Given the description of an element on the screen output the (x, y) to click on. 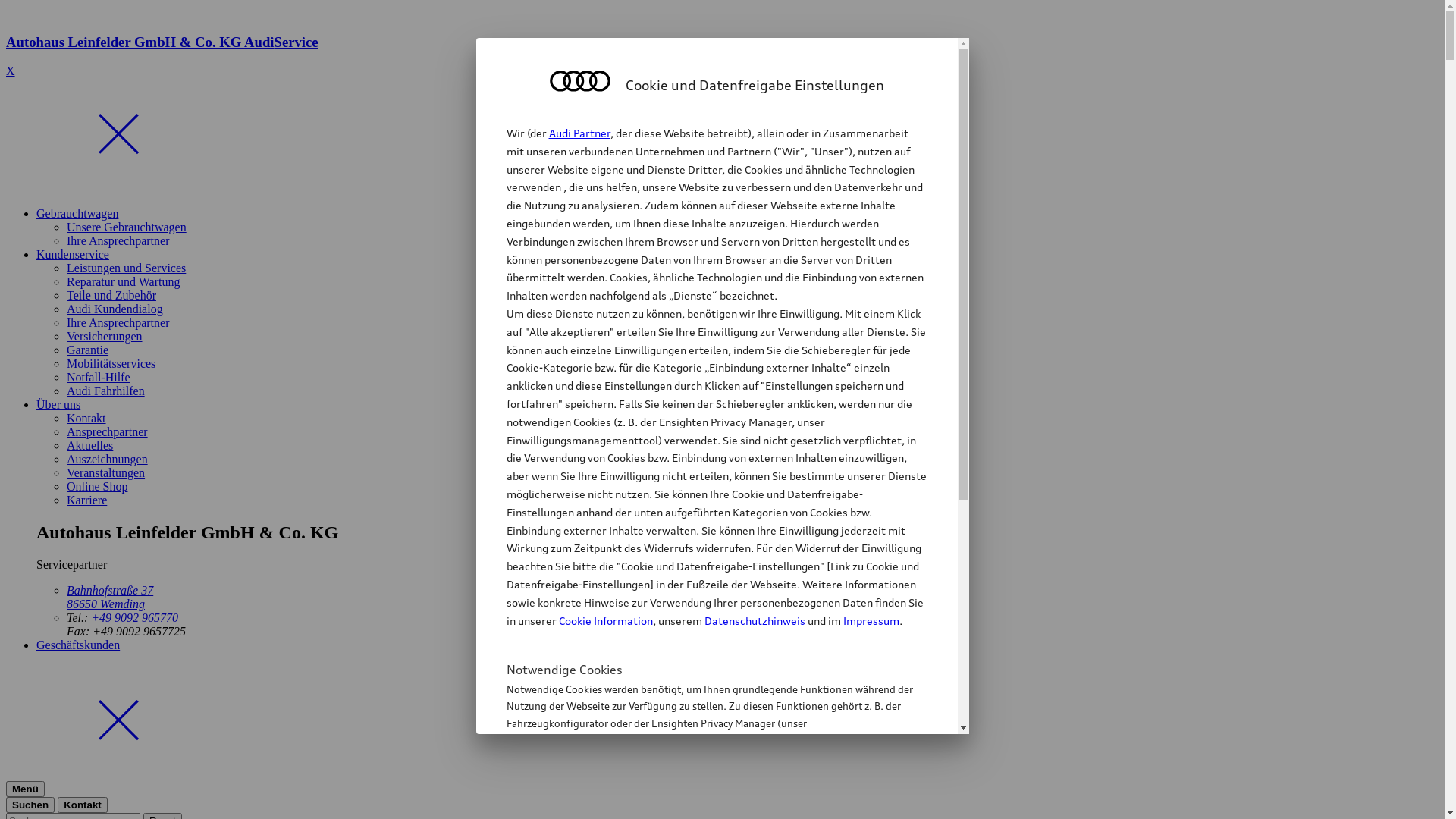
Ihre Ansprechpartner Element type: text (117, 322)
Kontakt Element type: text (86, 417)
X Element type: text (10, 70)
Impressum Element type: text (871, 620)
Auszeichnungen Element type: text (106, 458)
Online Shop Element type: text (96, 486)
Veranstaltungen Element type: text (105, 472)
Gebrauchtwagen Element type: text (77, 213)
Unsere Gebrauchtwagen Element type: text (126, 226)
Ihre Ansprechpartner Element type: text (117, 240)
Garantie Element type: text (87, 349)
Notfall-Hilfe Element type: text (98, 376)
Audi Kundendialog Element type: text (114, 308)
Autohaus Leinfelder GmbH & Co. KG AudiService Element type: text (722, 56)
+49 9092 965770 Element type: text (134, 617)
Aktuelles Element type: text (89, 445)
Audi Fahrhilfen Element type: text (105, 390)
Suchen Element type: text (30, 804)
Cookie Information Element type: text (700, 798)
Datenschutzhinweis Element type: text (753, 620)
Reparatur und Wartung Element type: text (122, 281)
Kundenservice Element type: text (72, 253)
Cookie Information Element type: text (605, 620)
Kontakt Element type: text (82, 804)
Audi Partner Element type: text (579, 132)
Ansprechpartner Element type: text (106, 431)
Leistungen und Services Element type: text (125, 267)
Versicherungen Element type: text (104, 335)
Karriere Element type: text (86, 499)
